Given the description of an element on the screen output the (x, y) to click on. 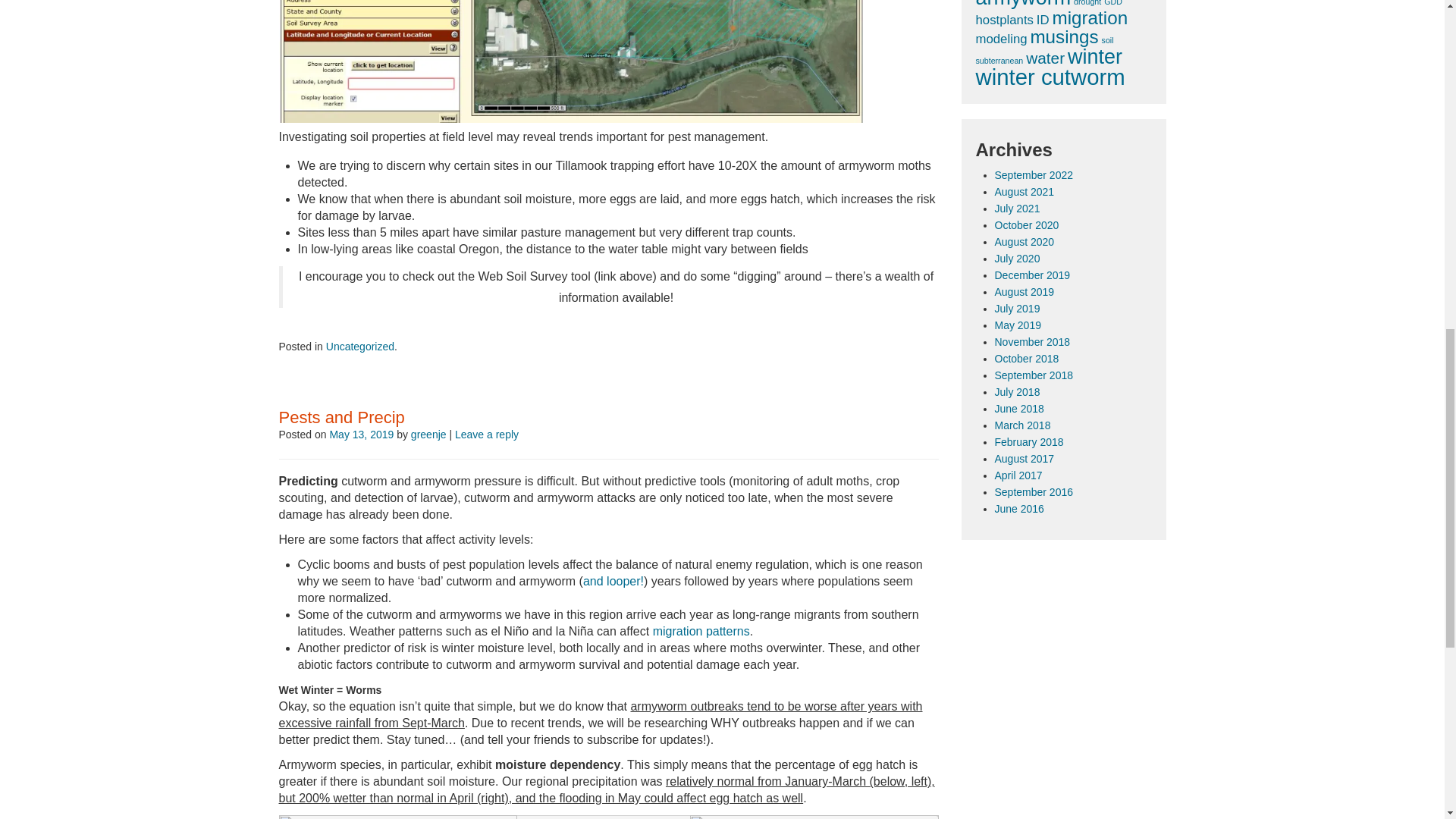
and looper! (613, 581)
migration (1090, 17)
musings (1063, 36)
greenje (428, 434)
migration patterns (700, 631)
drought (1087, 2)
Pests and Precip (341, 416)
Uncategorized (360, 346)
GDD (1112, 2)
Permalink to Pests and Precip (341, 416)
modeling (1000, 38)
armyworm (1022, 4)
Leave a reply (486, 434)
View all posts by greenje (428, 434)
12:06 PM (361, 434)
